Given the description of an element on the screen output the (x, y) to click on. 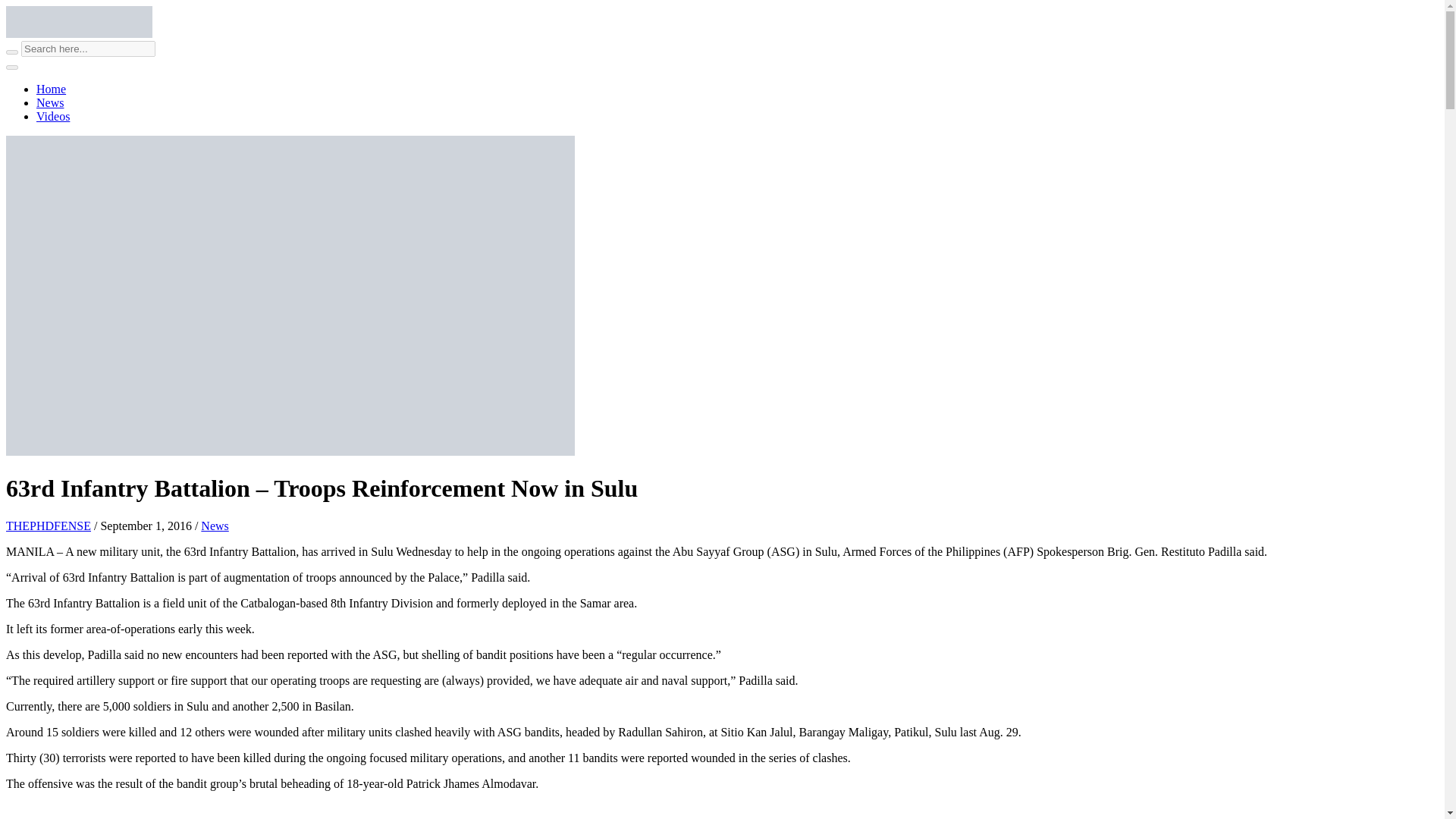
News (50, 102)
THEPHDFENSE (47, 525)
Videos (52, 115)
News (214, 525)
Home (50, 88)
Videos (52, 115)
Home (50, 88)
News (50, 102)
